Given the description of an element on the screen output the (x, y) to click on. 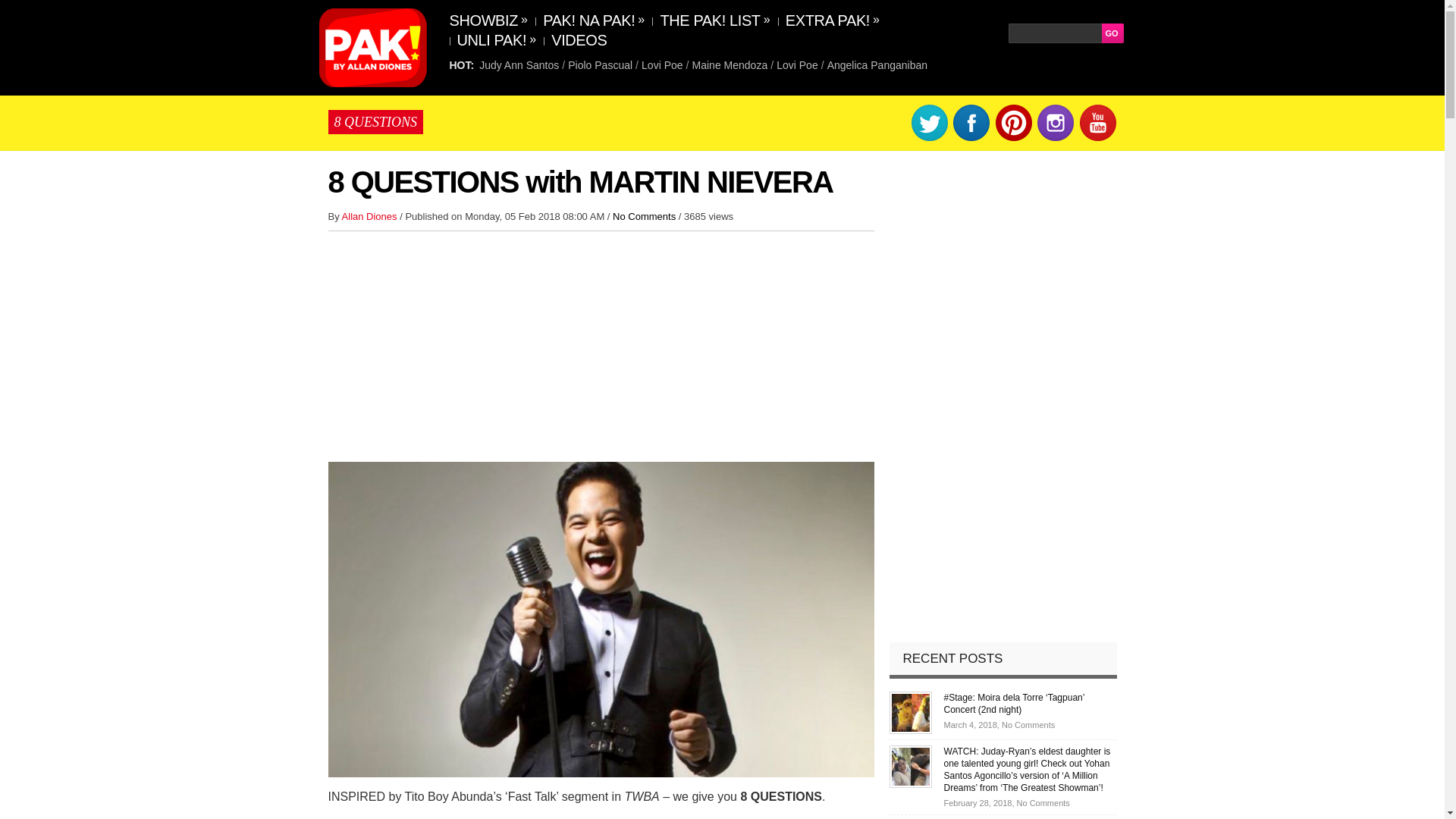
pinterest (1013, 122)
SHOWBIZ (489, 20)
GO (1111, 33)
Instagram (1055, 122)
Lovi Poe (796, 64)
UNLI PAK! (493, 39)
No Comments (643, 215)
GO (1111, 33)
facebook (971, 122)
 View all posts by Allan Diones (371, 215)
